Given the description of an element on the screen output the (x, y) to click on. 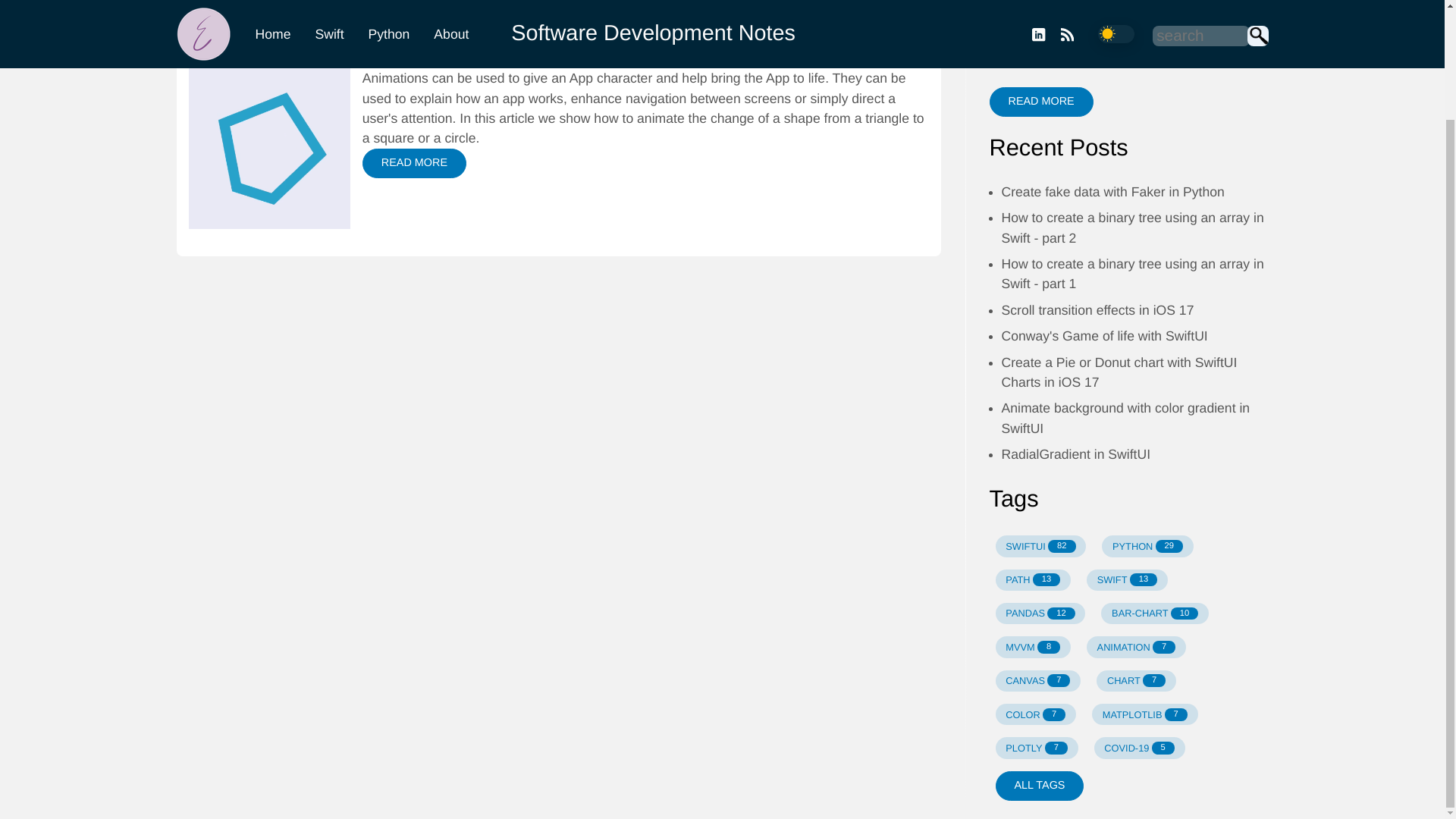
Animate background with color gradient in SwiftUI (1125, 417)
Animating a shape change in SwiftUI (1040, 545)
Scroll transition effects in iOS 17 (557, 12)
READ MORE (1097, 309)
polygon (1040, 101)
Conway's Game of life with SwiftUI (1037, 680)
